Given the description of an element on the screen output the (x, y) to click on. 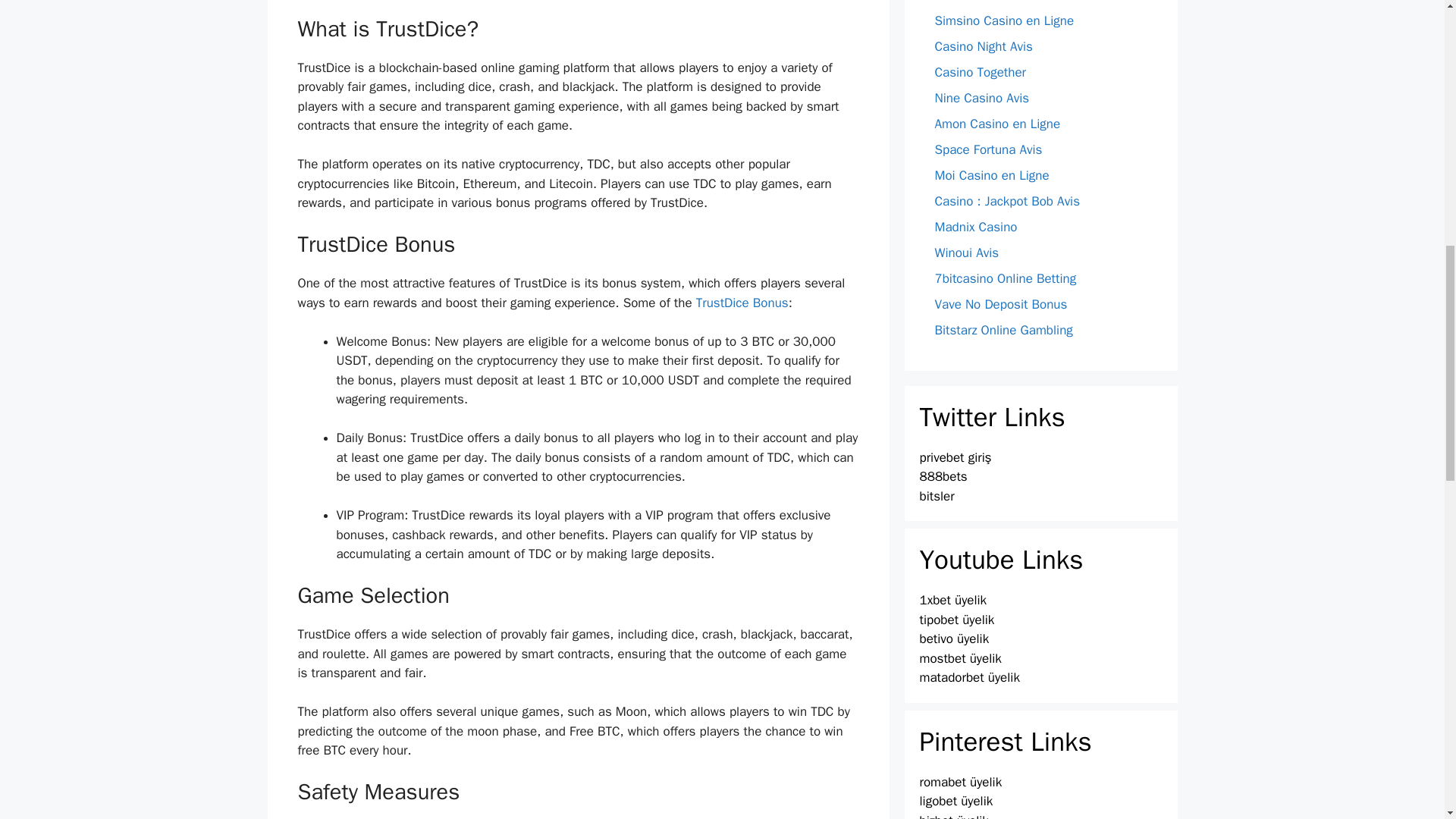
TrustDice Bonus (742, 302)
bitsler (935, 496)
Vave No Deposit Bonus (1000, 304)
Amon Casino en Ligne (996, 123)
Casino : Jackpot Bob Avis (1007, 201)
bitsler (935, 496)
Nine Casino Avis (981, 98)
888bets (942, 476)
Winoui Avis (966, 252)
Space Fortuna Avis (988, 149)
